Given the description of an element on the screen output the (x, y) to click on. 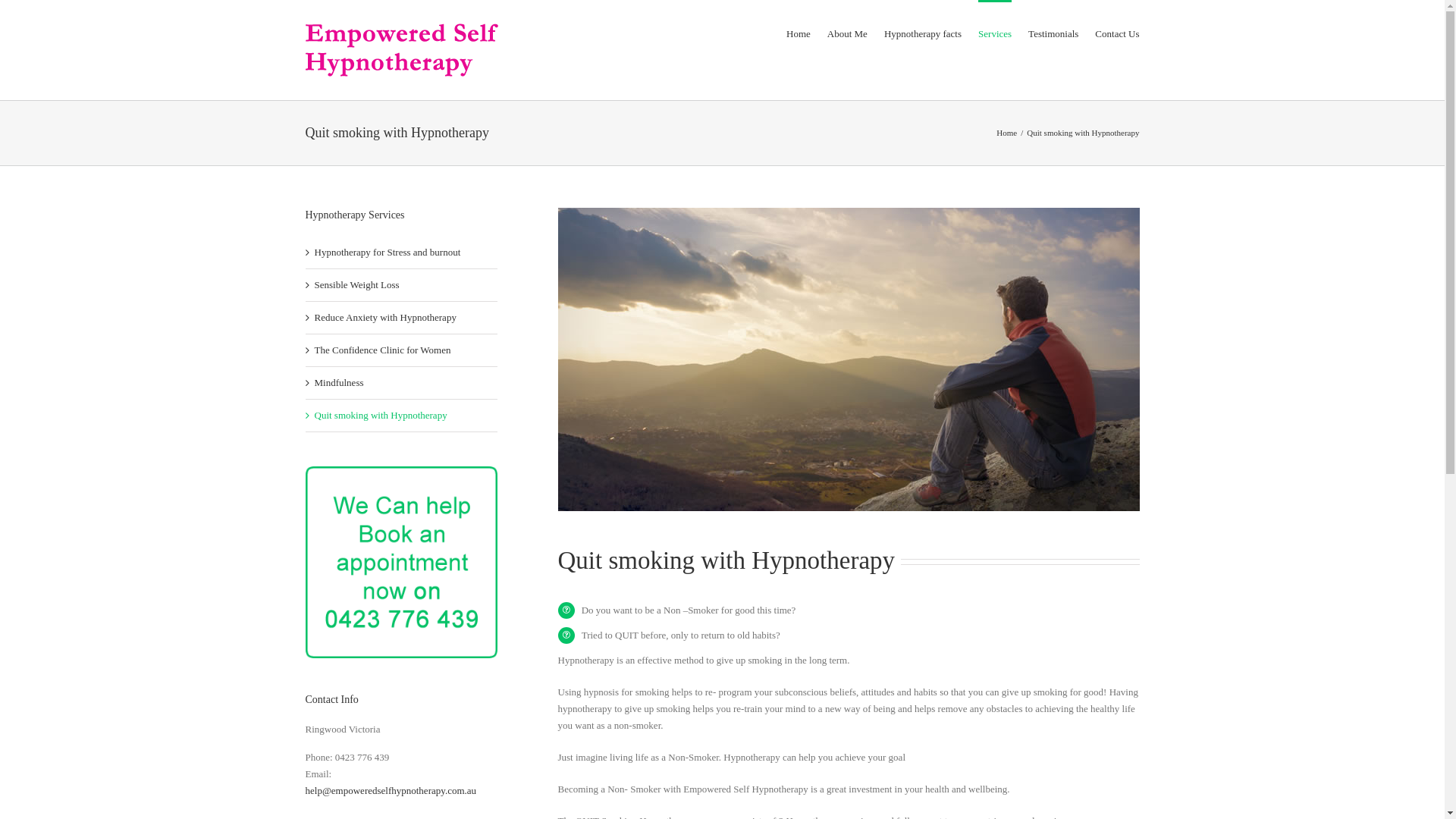
Hypnotherapy for Stress and burnout Element type: text (386, 251)
Hypnotherapy facts Element type: text (922, 32)
Sensible Weight Loss Element type: text (355, 284)
Home Element type: text (798, 32)
Services Element type: text (994, 32)
Testimonials Element type: text (1053, 32)
Quit smoking with Hypnotherapy Element type: text (379, 414)
Quit smoking with Hypnotherapy Element type: hover (848, 359)
Reduce Anxiety with Hypnotherapy Element type: text (384, 317)
Contact Us Element type: text (1117, 32)
Home Element type: text (1006, 132)
The Confidence Clinic for Women Element type: text (381, 349)
Mindfulness Element type: text (338, 382)
About Me Element type: text (847, 32)
help@empoweredselfhypnotherapy.com.au Element type: text (390, 790)
